Given the description of an element on the screen output the (x, y) to click on. 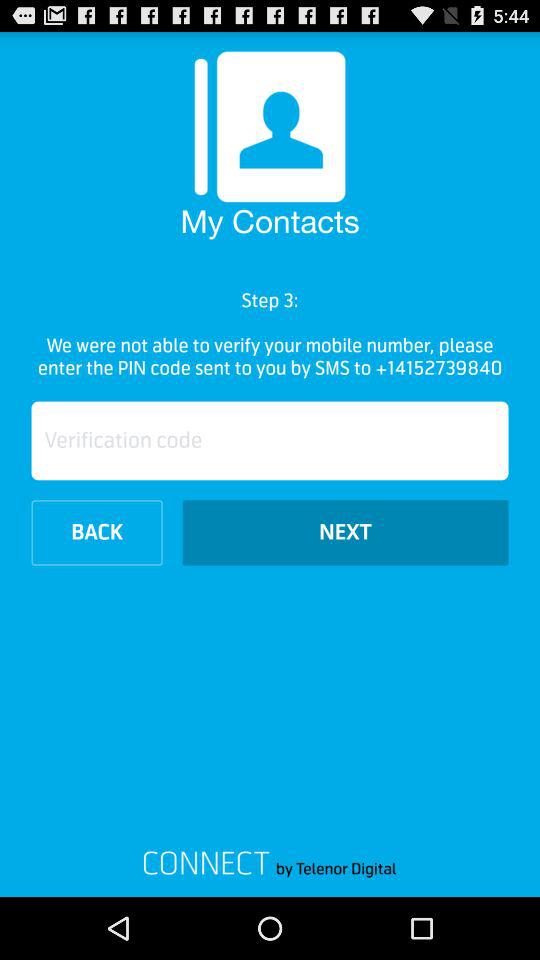
scroll until the back (96, 532)
